Given the description of an element on the screen output the (x, y) to click on. 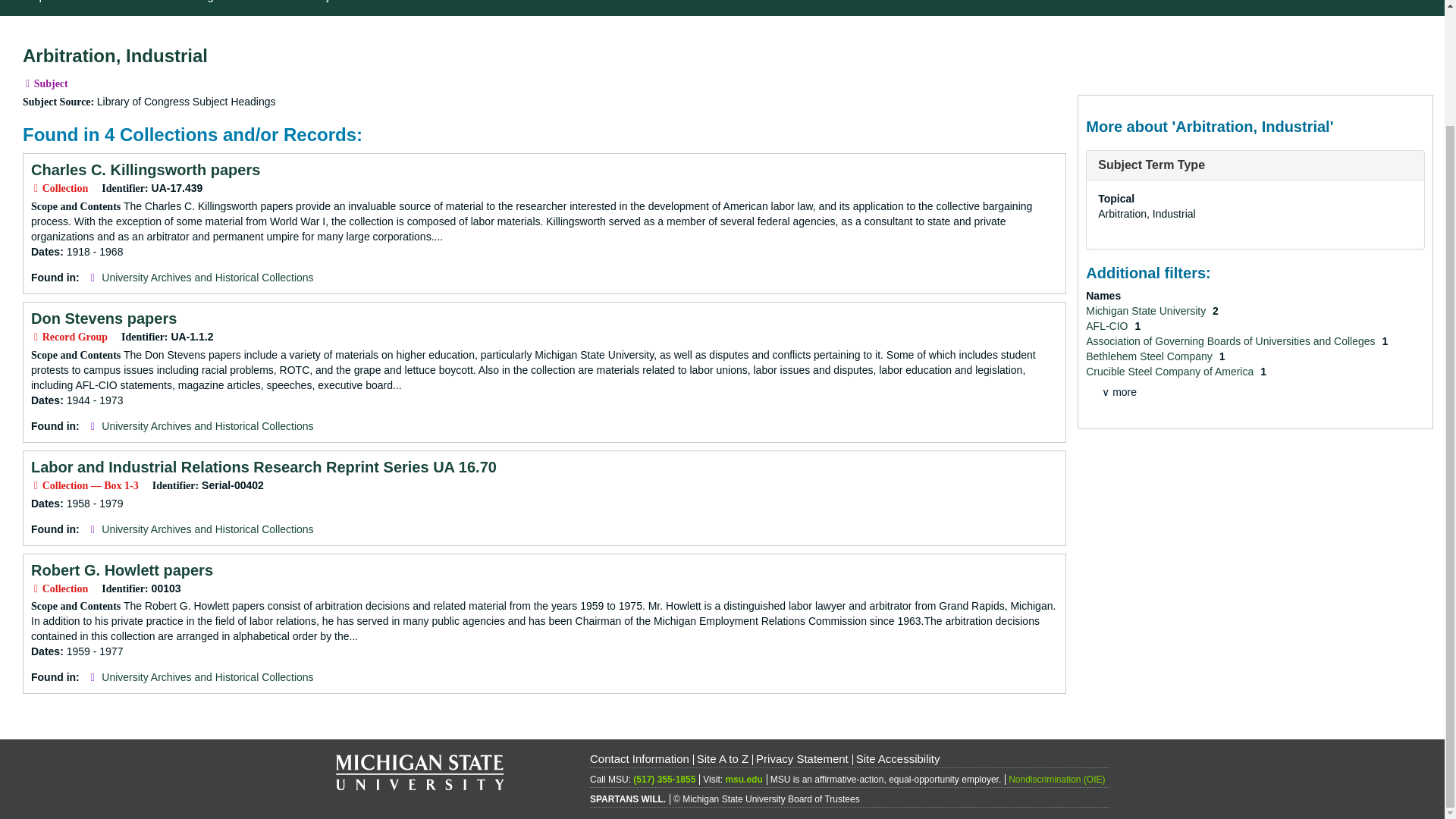
University Archives and Historical Collections (207, 277)
Search The Archives (437, 7)
Page Actions (1136, 38)
Michigan State University (1147, 310)
Don Stevens papers (103, 318)
University Archives and Historical Collections (207, 426)
Association of Governing Boards of Universities and Colleges (1231, 340)
Charles C. Killingsworth papers (145, 169)
AFL-CIO (1108, 326)
Filter By 'AFL-CIO' (1108, 326)
Repositories (56, 7)
Filter By 'Crucible Steel Company of America' (1171, 371)
Bethlehem Steel Company (1150, 356)
